Given the description of an element on the screen output the (x, y) to click on. 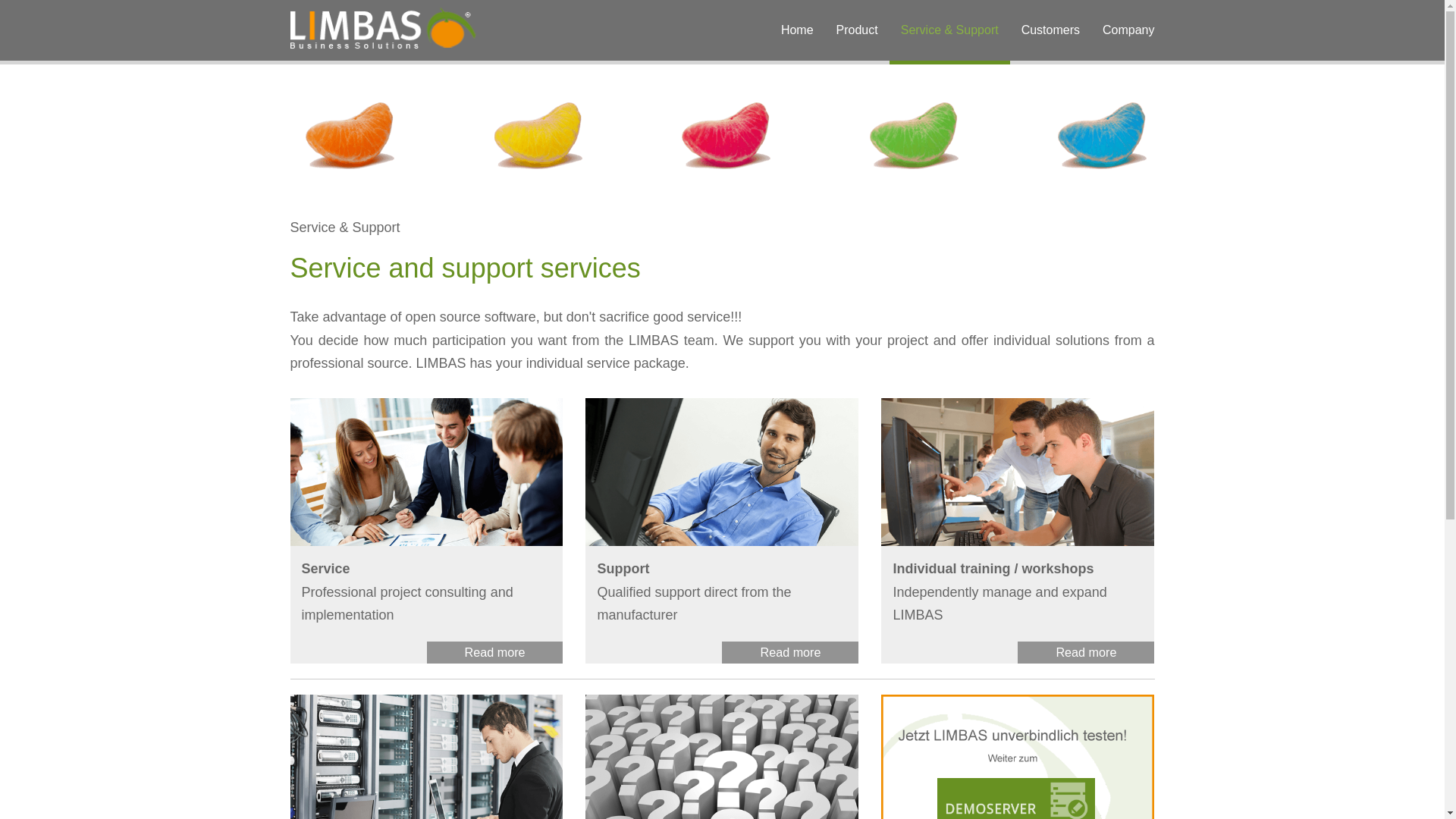
Read more (494, 652)
Company (1128, 30)
Read more (790, 652)
Product (857, 30)
Home (797, 30)
Read more (1085, 652)
Customers (1050, 30)
